Given the description of an element on the screen output the (x, y) to click on. 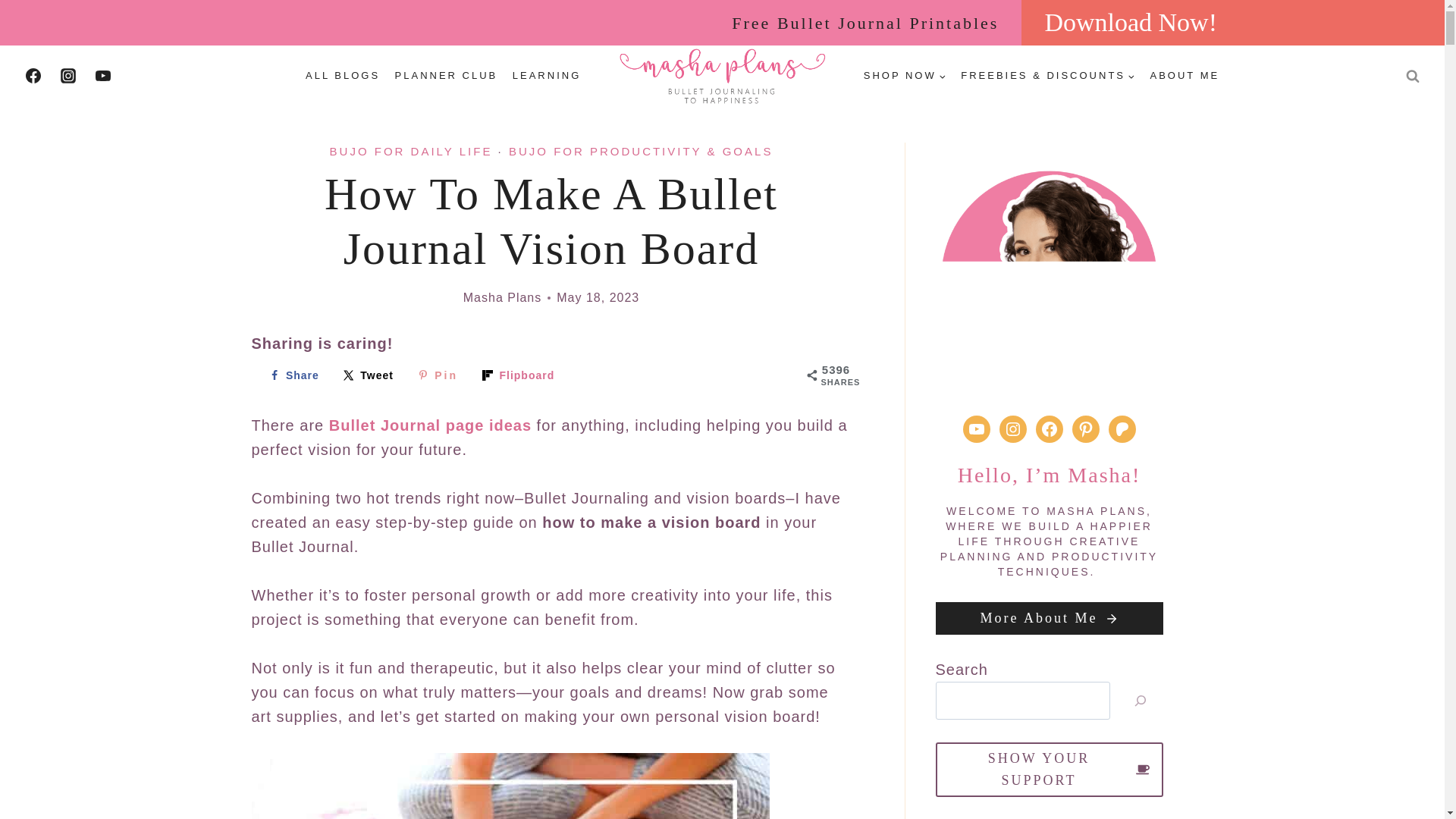
Save to Pinterest (437, 375)
Share on Facebook (294, 375)
Share (294, 375)
SHOP NOW (904, 75)
ALL BLOGS (342, 75)
Tweet (368, 375)
Masha Plans (502, 297)
Bullet Journal page ideas (430, 425)
Share on Flipboard (518, 375)
PLANNER CLUB (446, 75)
